Given the description of an element on the screen output the (x, y) to click on. 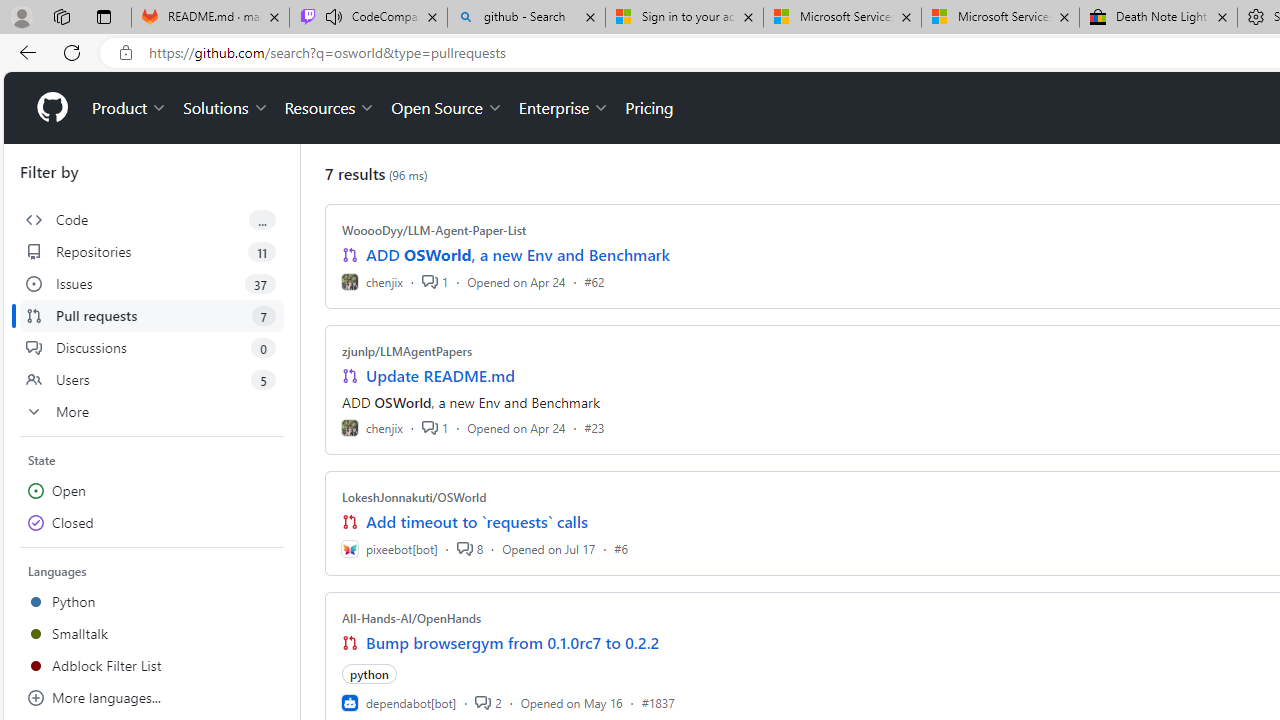
Open Source (446, 107)
Enterprise (563, 107)
#1837 (657, 702)
#6 (621, 548)
2 (487, 702)
Pricing (649, 107)
Solutions (225, 107)
Homepage (51, 107)
Resources (330, 107)
